Given the description of an element on the screen output the (x, y) to click on. 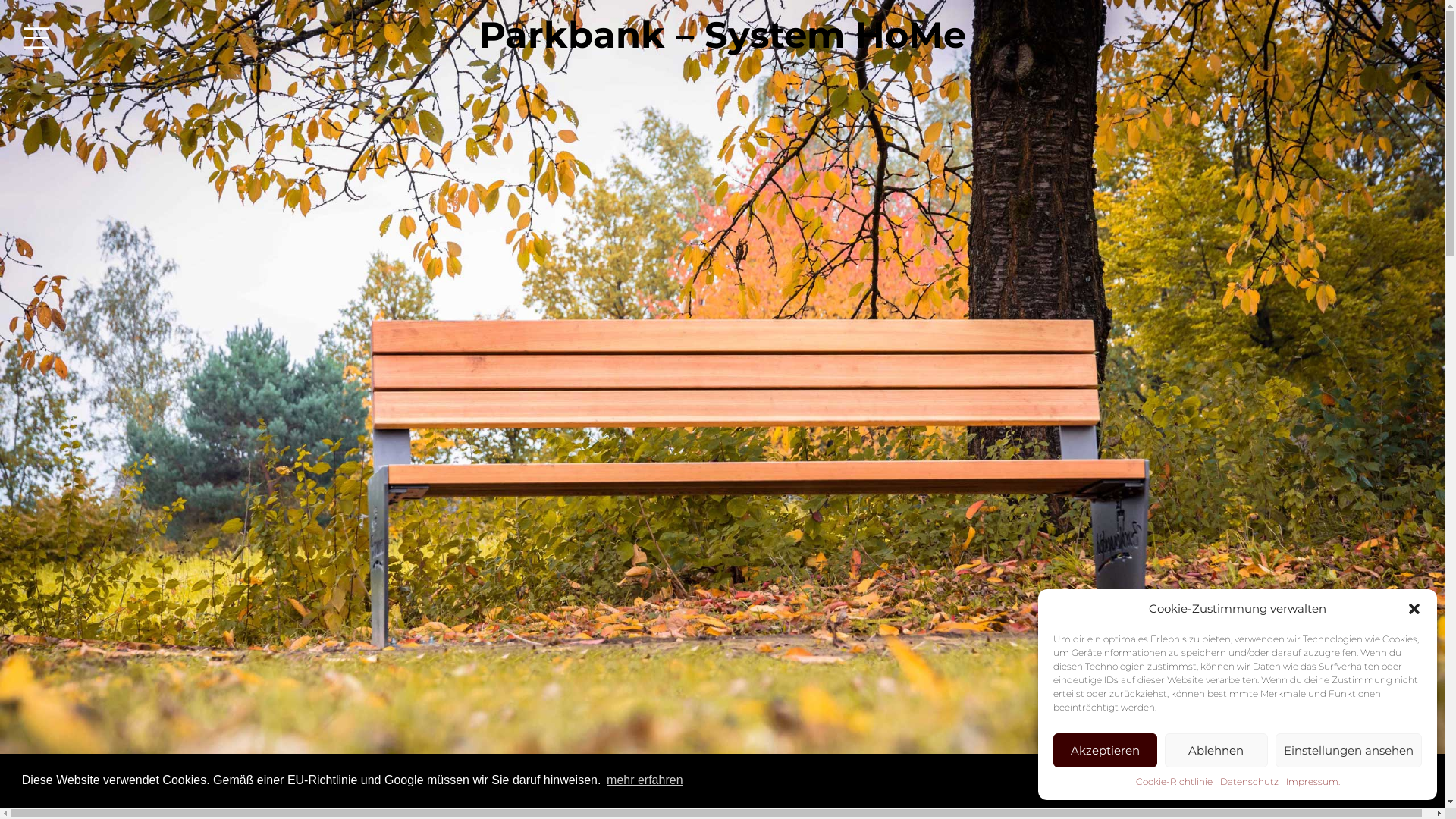
Akzeptieren Element type: text (1105, 750)
mehr erfahren Element type: text (644, 779)
Ok Element type: text (1369, 780)
Ablehnen Element type: text (1216, 750)
Impressum. Element type: text (1312, 781)
Cookie-Richtlinie Element type: text (1173, 781)
Datenschutz Element type: text (1248, 781)
Einstellungen ansehen Element type: text (1348, 750)
